Given the description of an element on the screen output the (x, y) to click on. 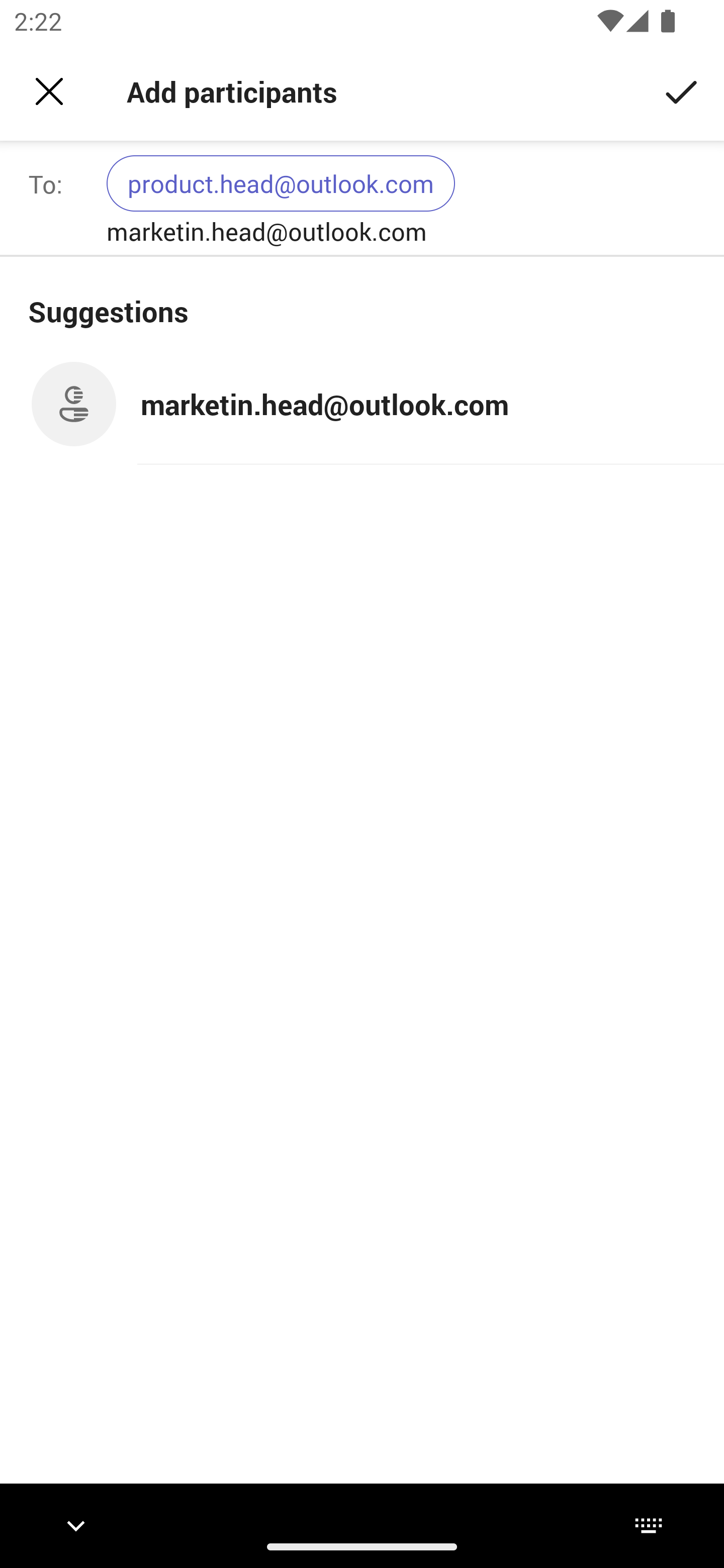
Back (49, 91)
Submit (681, 90)
Add users product.head@outlook.com (407, 199)
